Given the description of an element on the screen output the (x, y) to click on. 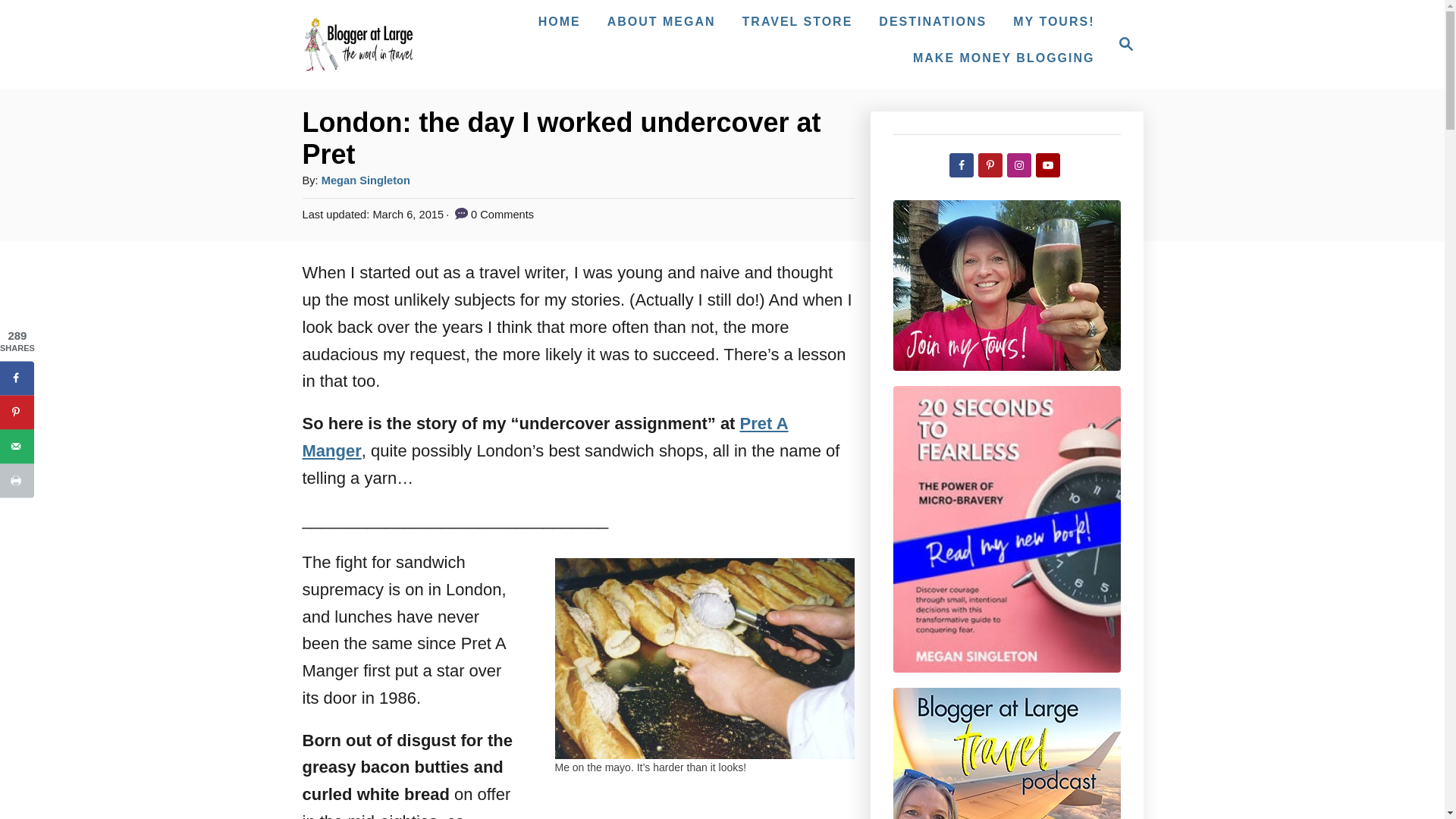
Share on Facebook (16, 377)
Training (1003, 58)
Print this webpage (16, 480)
ABOUT MEGAN (661, 21)
DESTINATIONS (932, 21)
Magnifying Glass (1125, 44)
Send over email (1122, 43)
TRAVEL STORE (16, 446)
Follow on Facebook (797, 21)
